Given the description of an element on the screen output the (x, y) to click on. 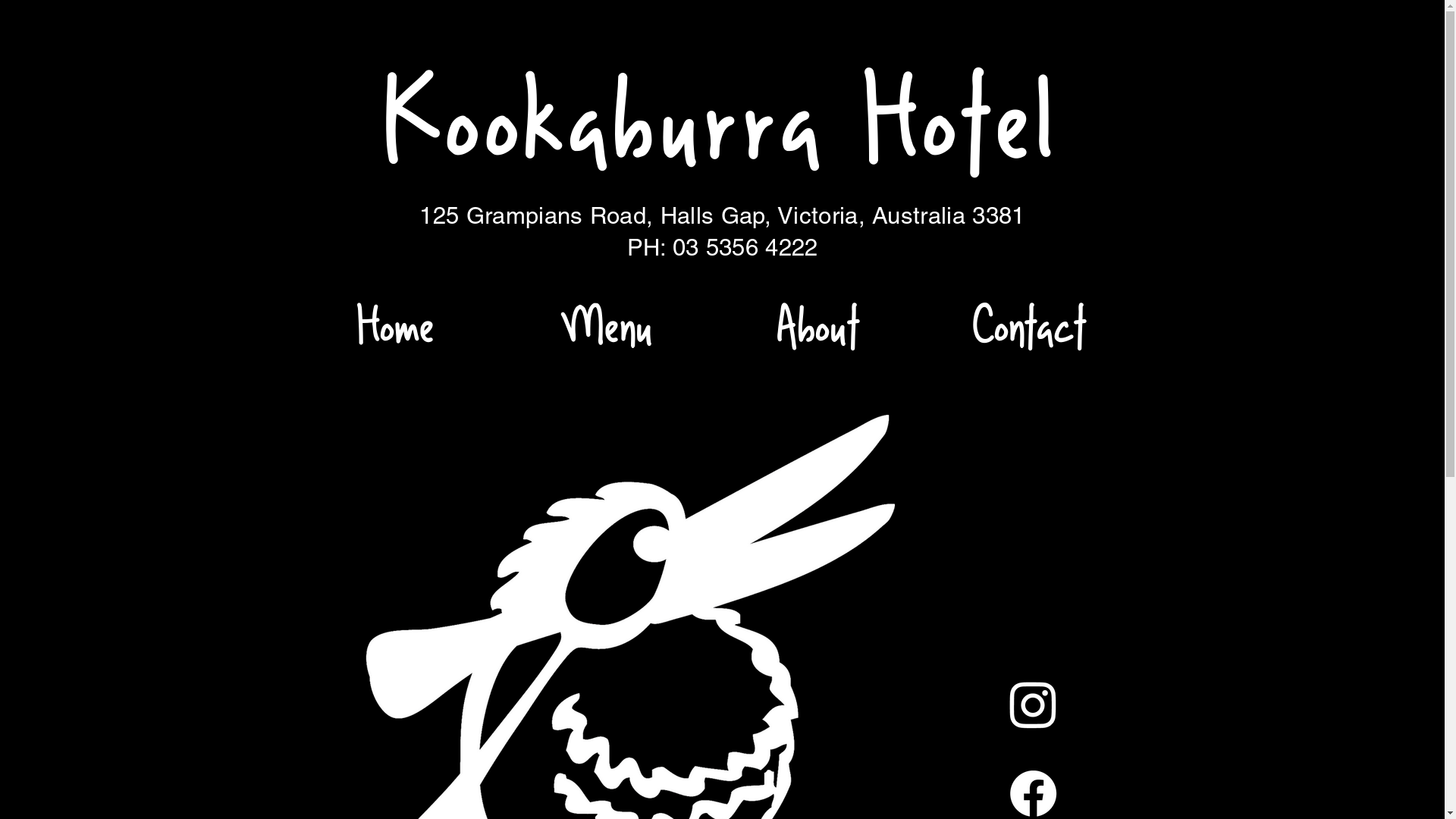
Menu Element type: text (607, 321)
About Element type: text (817, 321)
Home Element type: text (395, 321)
Contact Element type: text (1028, 321)
